Given the description of an element on the screen output the (x, y) to click on. 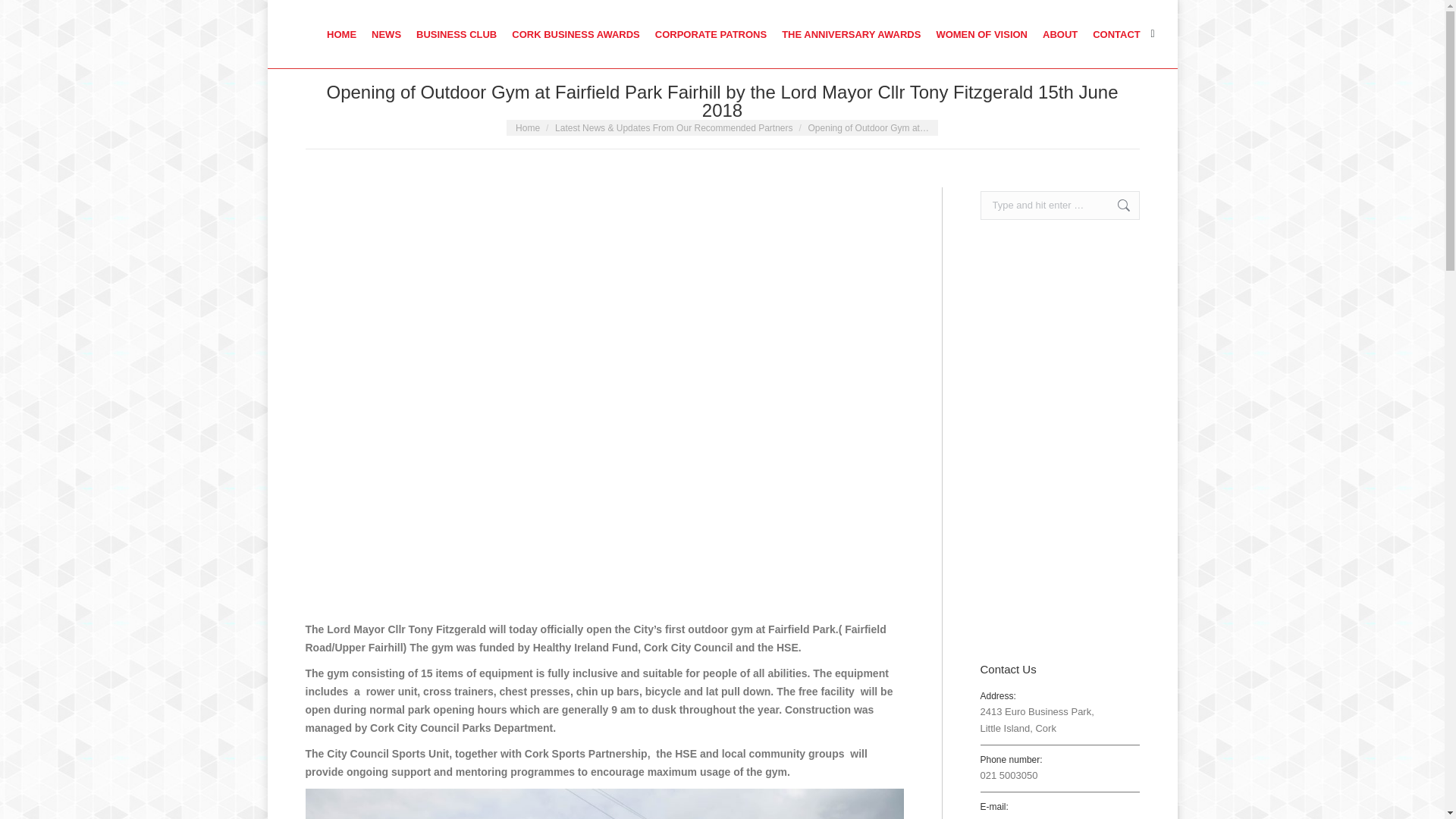
THE ANNIVERSARY AWARDS (850, 33)
WOMEN OF VISION (980, 33)
BUSINESS CLUB (456, 33)
CORPORATE PATRONS (710, 33)
Home (527, 127)
Home (527, 127)
CORK BUSINESS AWARDS (575, 33)
Go! (22, 15)
Go! (1115, 205)
Go! (1115, 205)
